Given the description of an element on the screen output the (x, y) to click on. 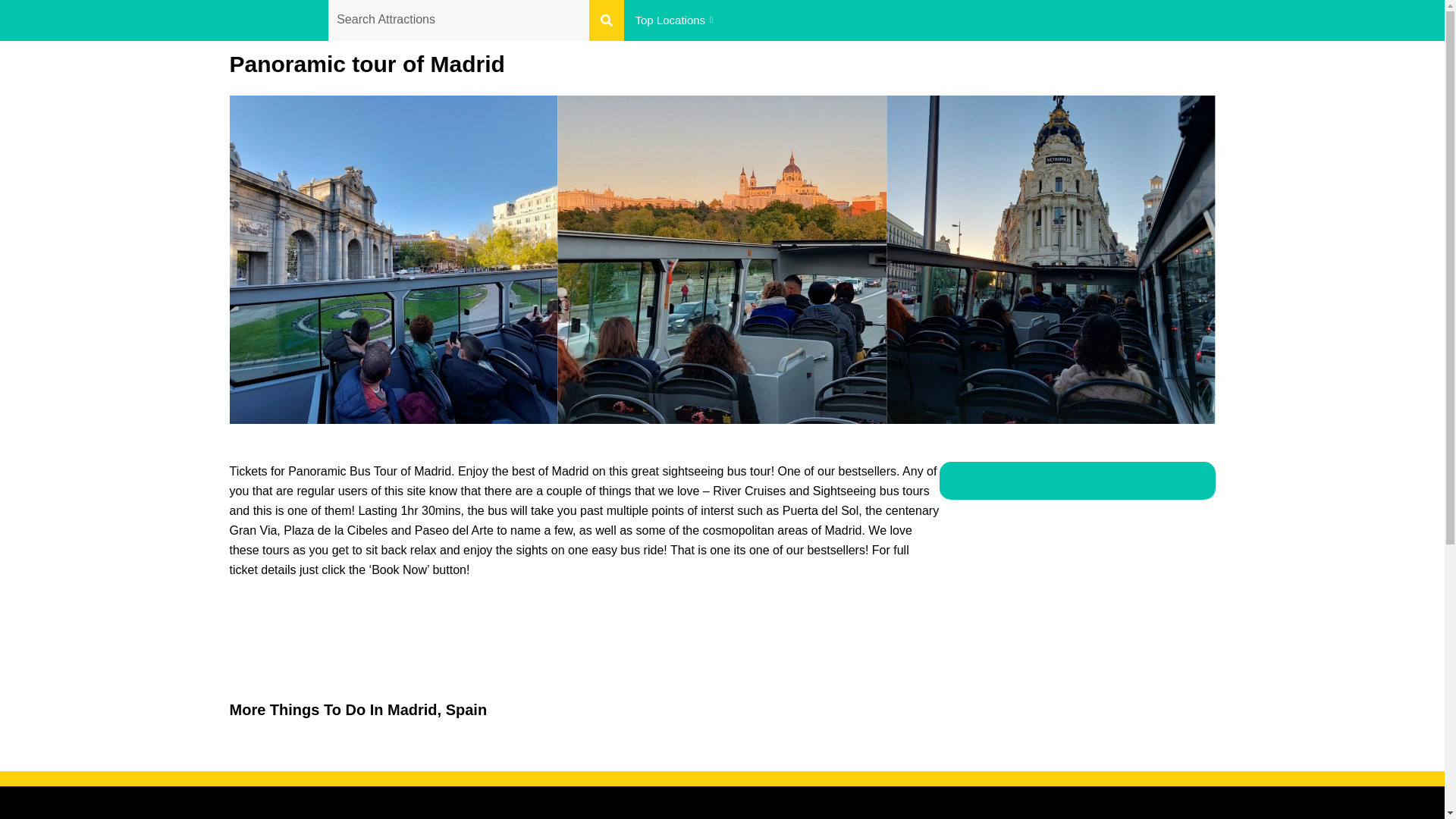
Search (458, 20)
Top Locations (675, 20)
